Given the description of an element on the screen output the (x, y) to click on. 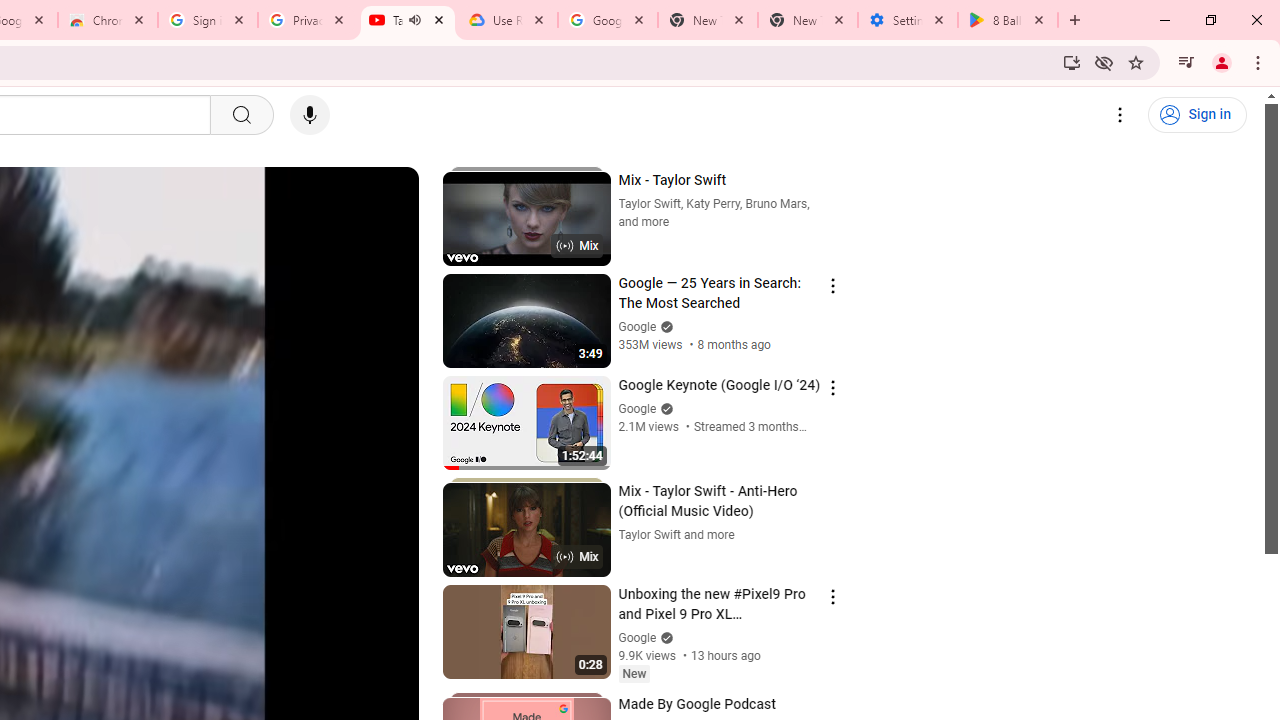
Install YouTube (1071, 62)
New (634, 674)
Search with your voice (309, 115)
